Given the description of an element on the screen output the (x, y) to click on. 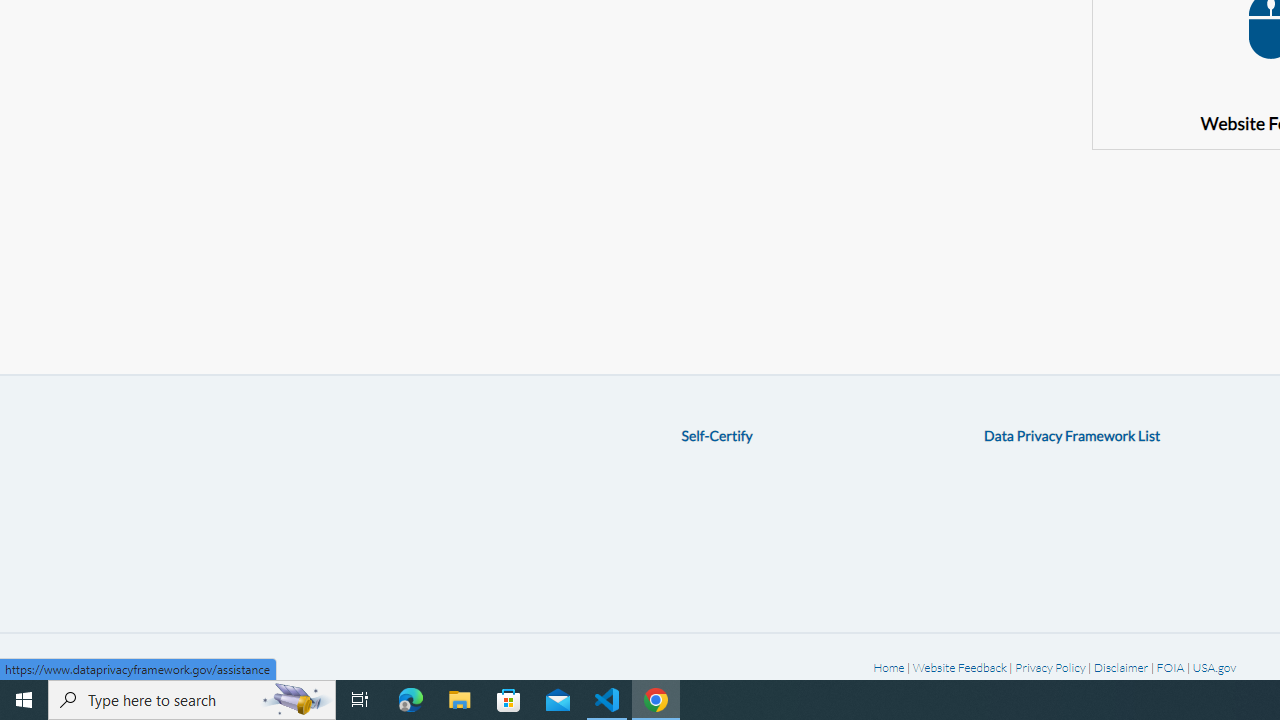
Website Feedback (959, 666)
USA.gov (1213, 666)
Disclaimer (1121, 666)
Self-Certify (716, 435)
Data Privacy Framework List (1072, 435)
FOIA  (1170, 666)
